Given the description of an element on the screen output the (x, y) to click on. 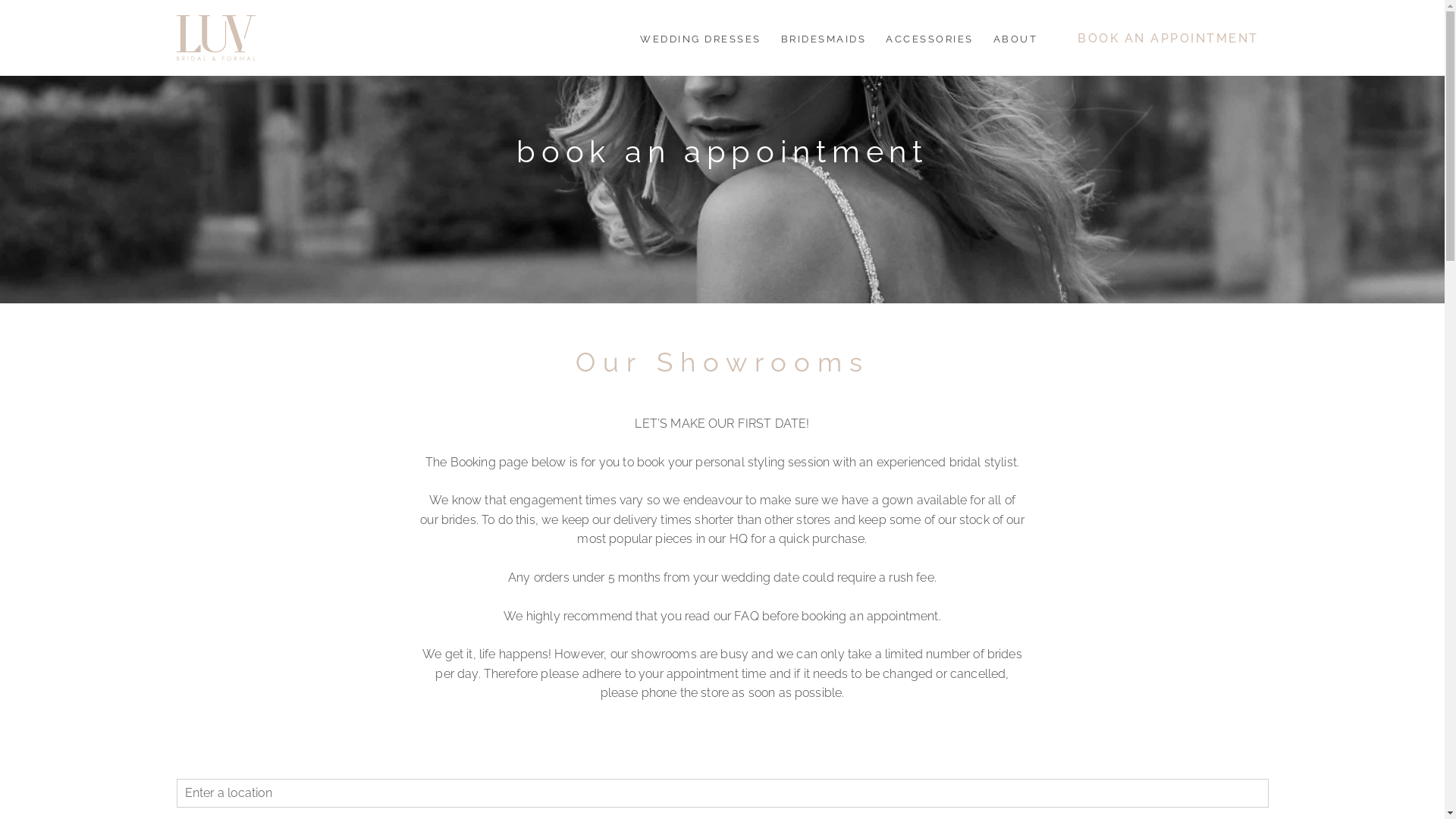
ABOUT Element type: text (1014, 38)
WEDDING DRESSES Element type: text (700, 38)
BOOK AN APPOINTMENT Element type: text (1157, 37)
ACCESSORIES Element type: text (929, 38)
BRIDESMAIDS Element type: text (822, 38)
